Given the description of an element on the screen output the (x, y) to click on. 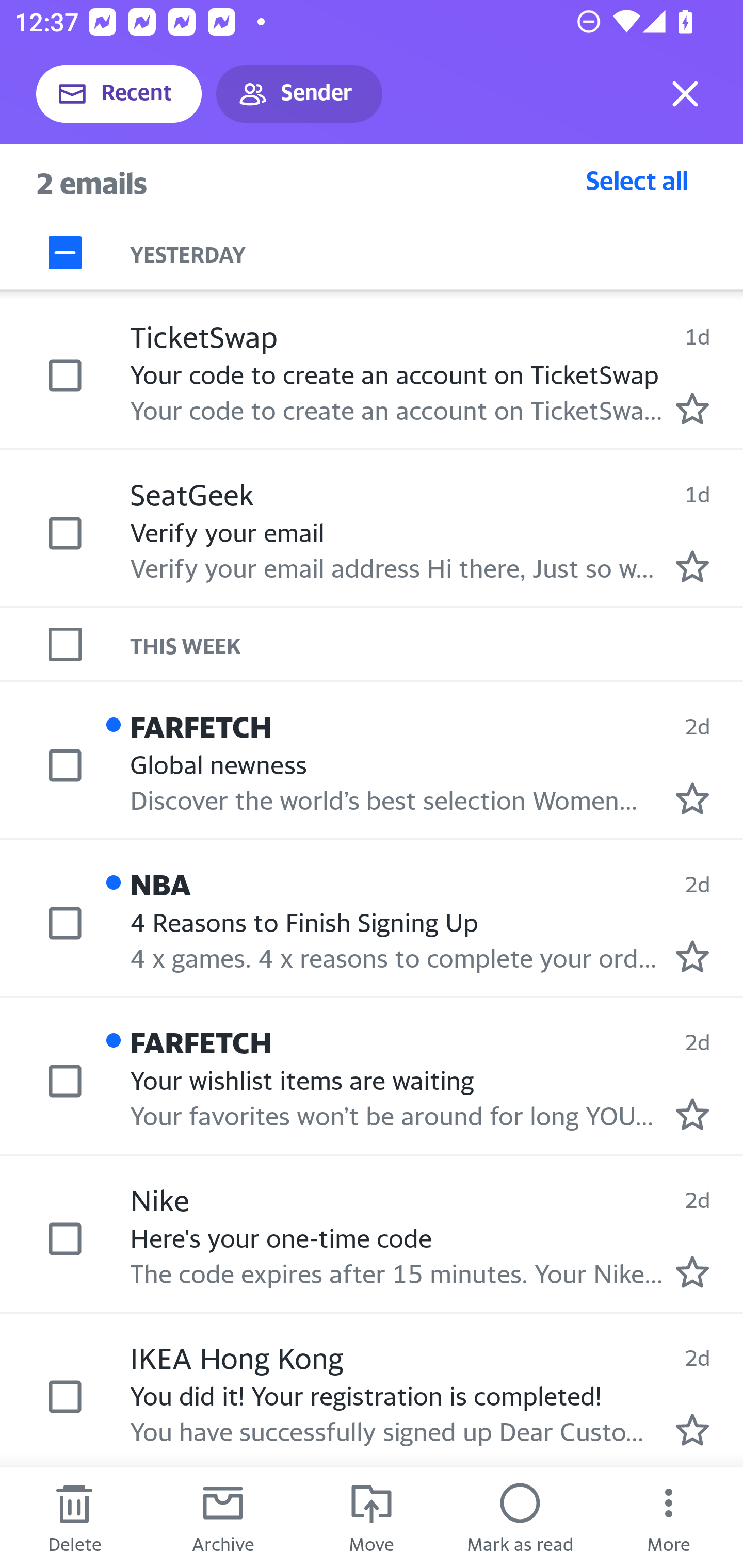
Sender (299, 93)
Exit selection mode (684, 93)
Select all (637, 180)
Mark as starred. (692, 408)
Mark as starred. (692, 566)
THIS WEEK (436, 643)
Mark as starred. (692, 798)
Mark as starred. (692, 955)
Mark as starred. (692, 1114)
Mark as starred. (692, 1272)
Mark as starred. (692, 1429)
Delete (74, 1517)
Archive (222, 1517)
Move (371, 1517)
Mark as read (519, 1517)
More (668, 1517)
